Given the description of an element on the screen output the (x, y) to click on. 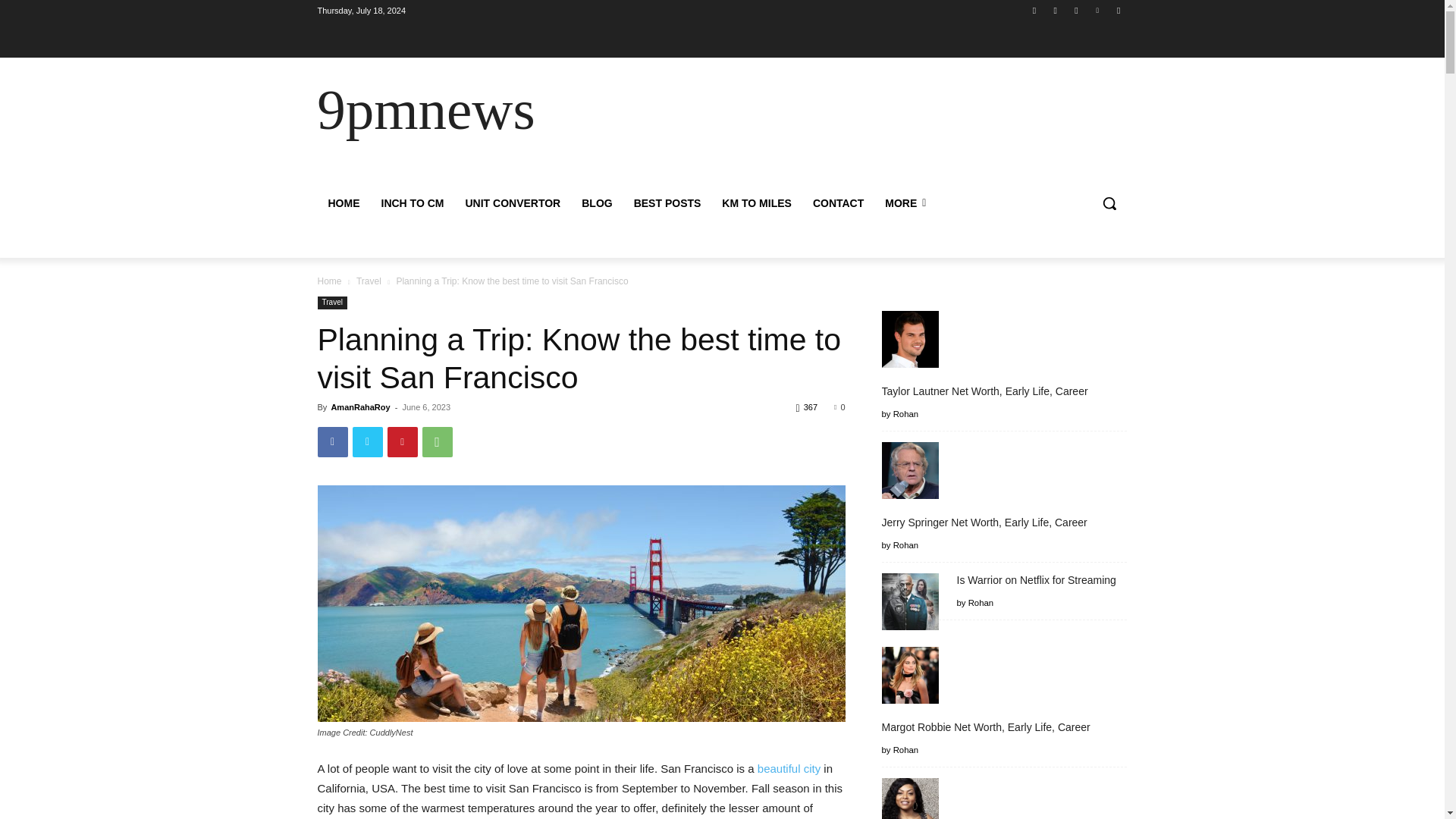
9pmnews (425, 109)
Twitter (1075, 9)
Pinterest (401, 440)
WhatsApp (436, 440)
HOME (343, 203)
Facebook (332, 440)
KM TO MILES (756, 203)
INCH TO CM (411, 203)
BLOG (596, 203)
0 (839, 406)
Vimeo (1097, 9)
MORE (905, 203)
Twitter (366, 440)
Instagram (1055, 9)
UNIT CONVERTOR (512, 203)
